Given the description of an element on the screen output the (x, y) to click on. 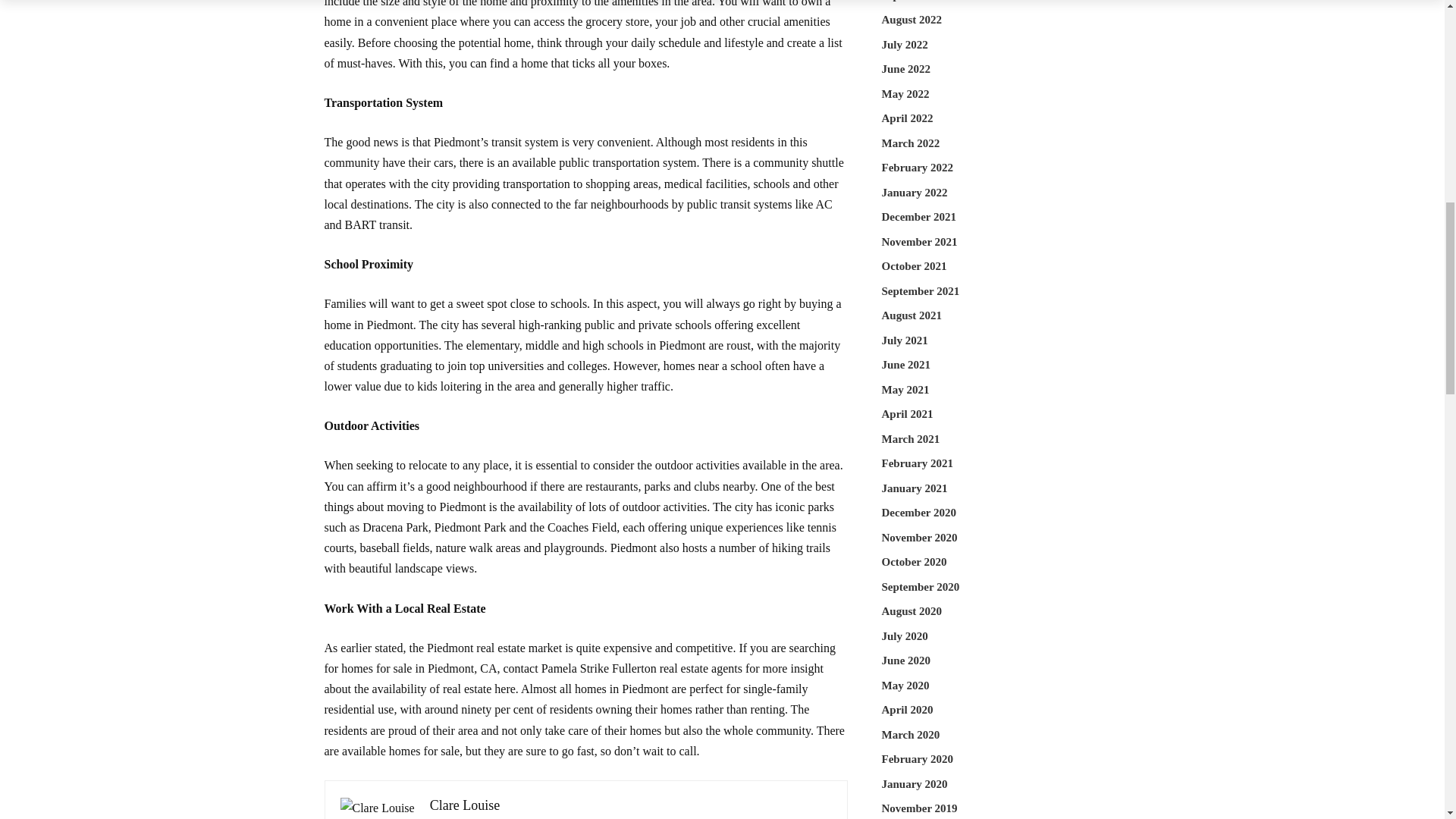
Clare Louise (464, 805)
